Given the description of an element on the screen output the (x, y) to click on. 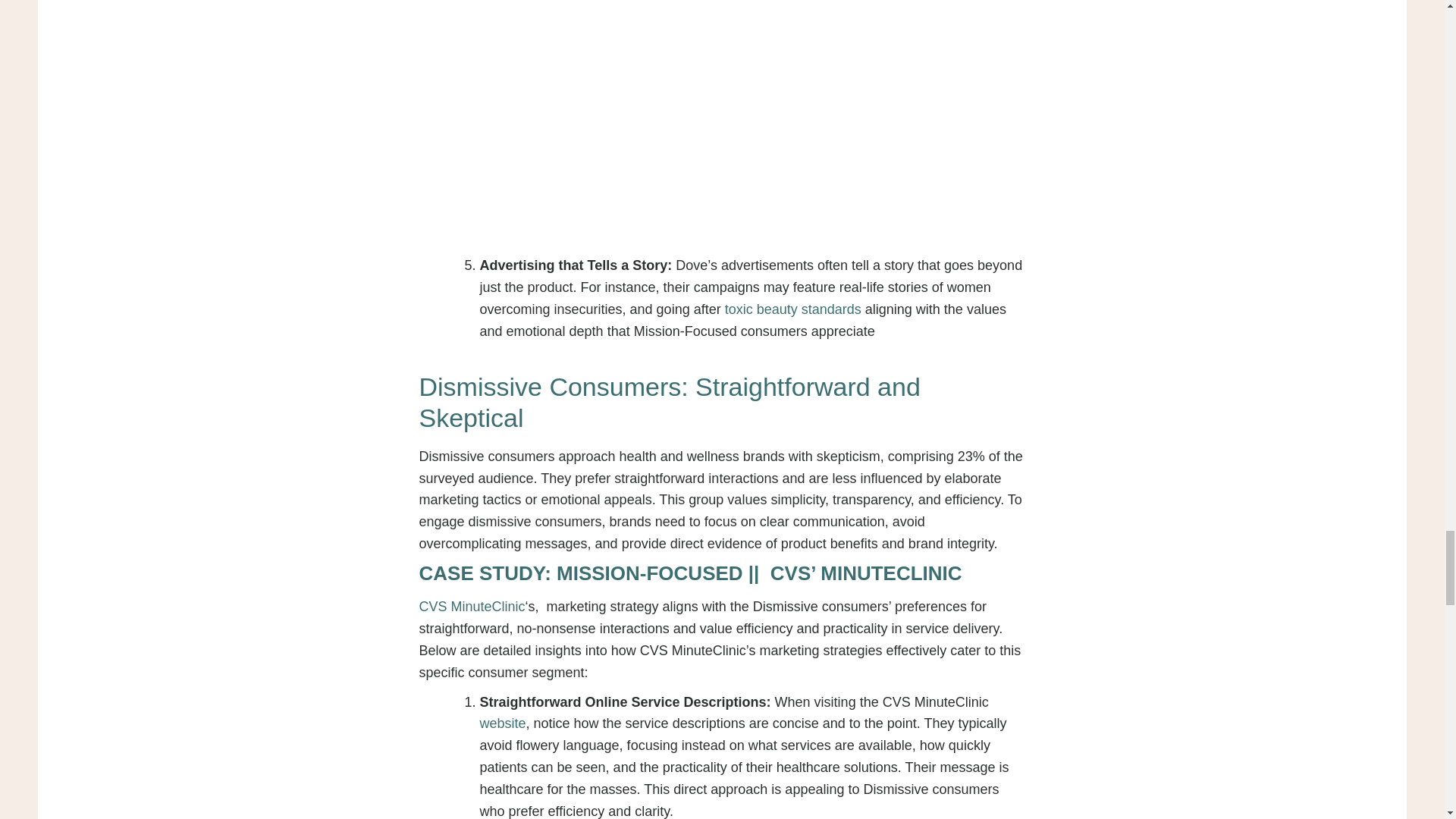
toxic beauty standards (793, 309)
CVS MinuteClinic (471, 606)
website (502, 723)
